Given the description of an element on the screen output the (x, y) to click on. 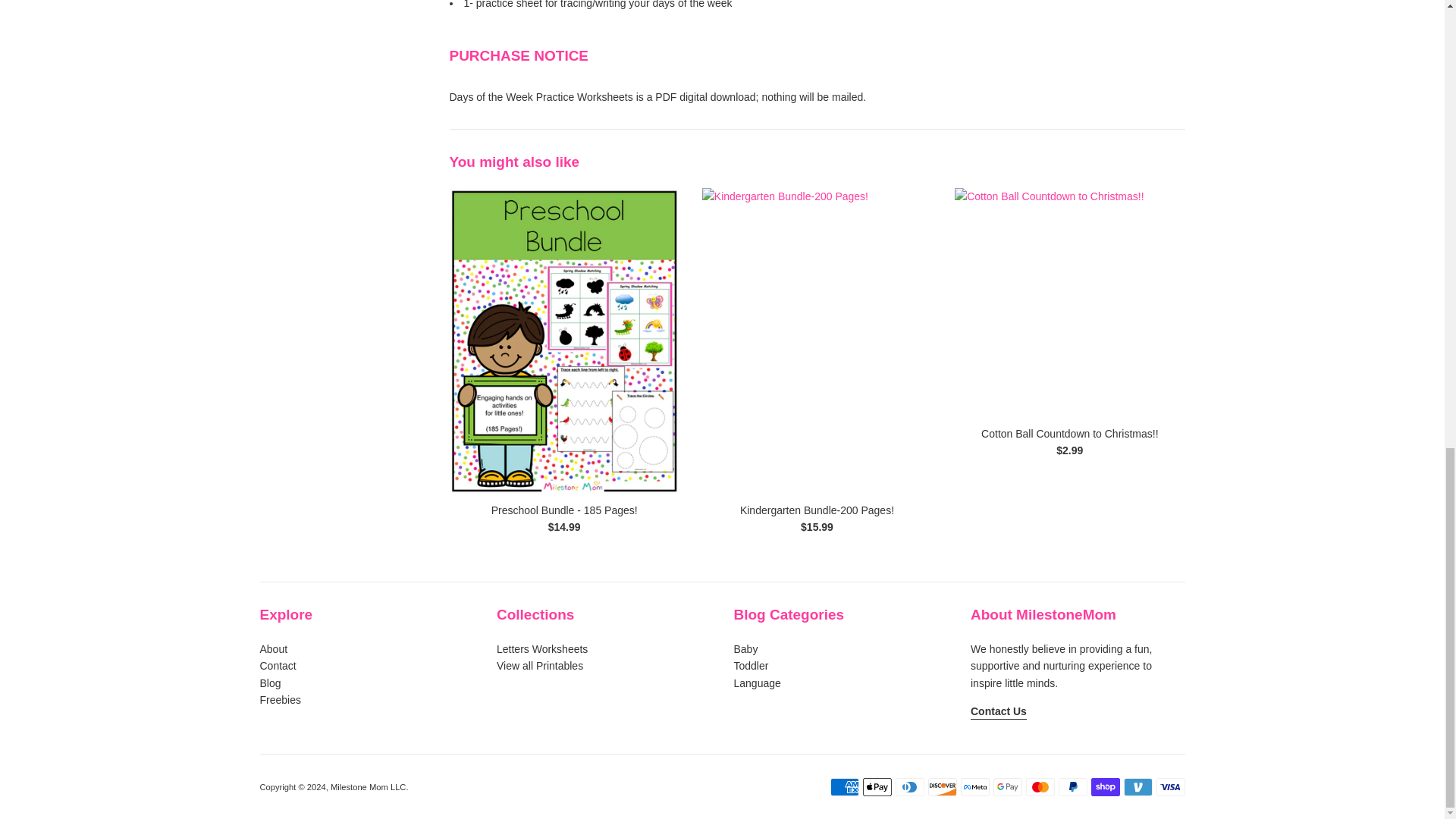
Mastercard (1039, 787)
Meta Pay (973, 787)
Venmo (1138, 787)
American Express (844, 787)
Discover (942, 787)
PayPal (1072, 787)
Preschool Bundle - 185 Pages! (564, 510)
Cotton Ball Countdown to Christmas!! (1070, 302)
Google Pay (1007, 787)
Apple Pay (877, 787)
Diners Club (909, 787)
Shop Pay (1104, 787)
